Given the description of an element on the screen output the (x, y) to click on. 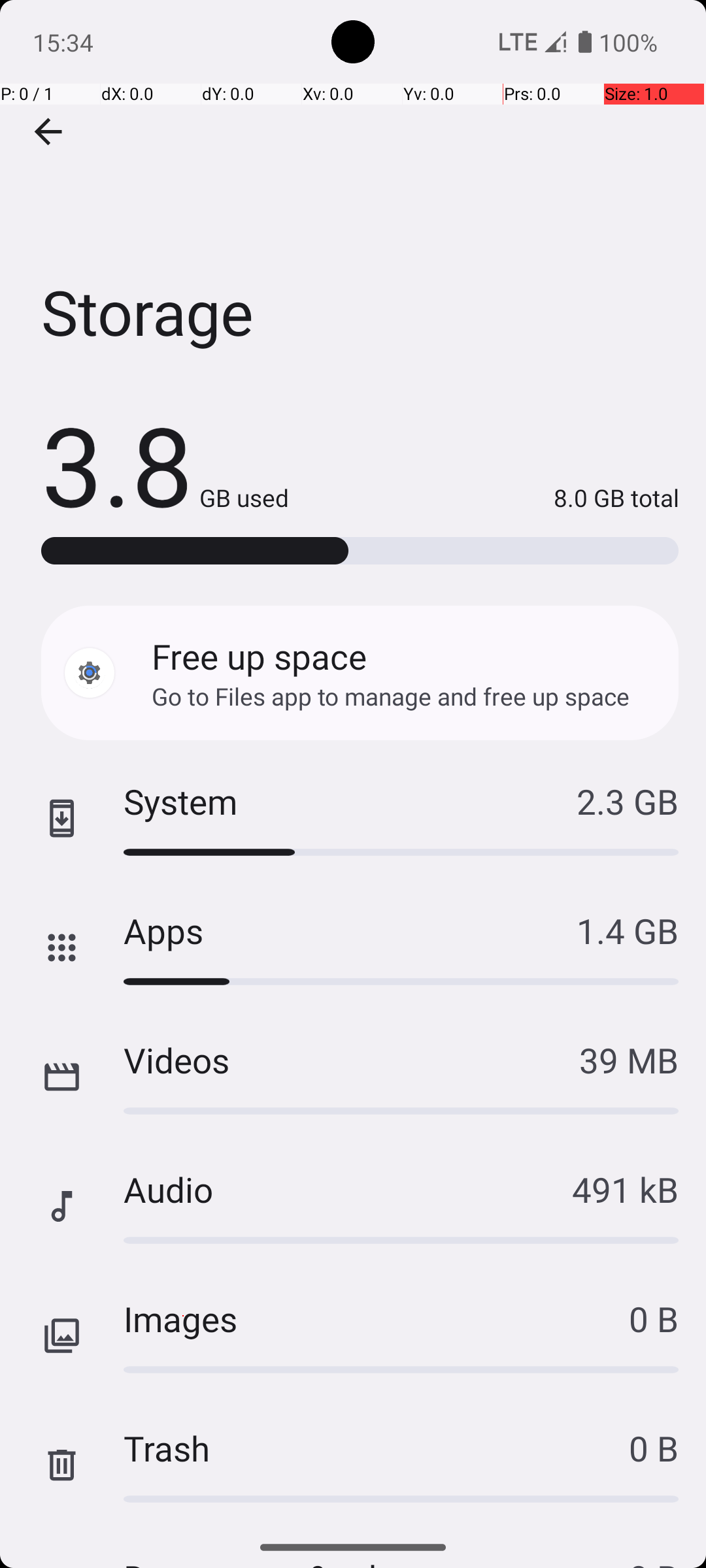
3.8 GB used Element type: android.widget.TextView (164, 463)
1.4 GB Element type: android.widget.TextView (627, 930)
39 MB Element type: android.widget.TextView (628, 1059)
491 kB Element type: android.widget.TextView (624, 1189)
